Given the description of an element on the screen output the (x, y) to click on. 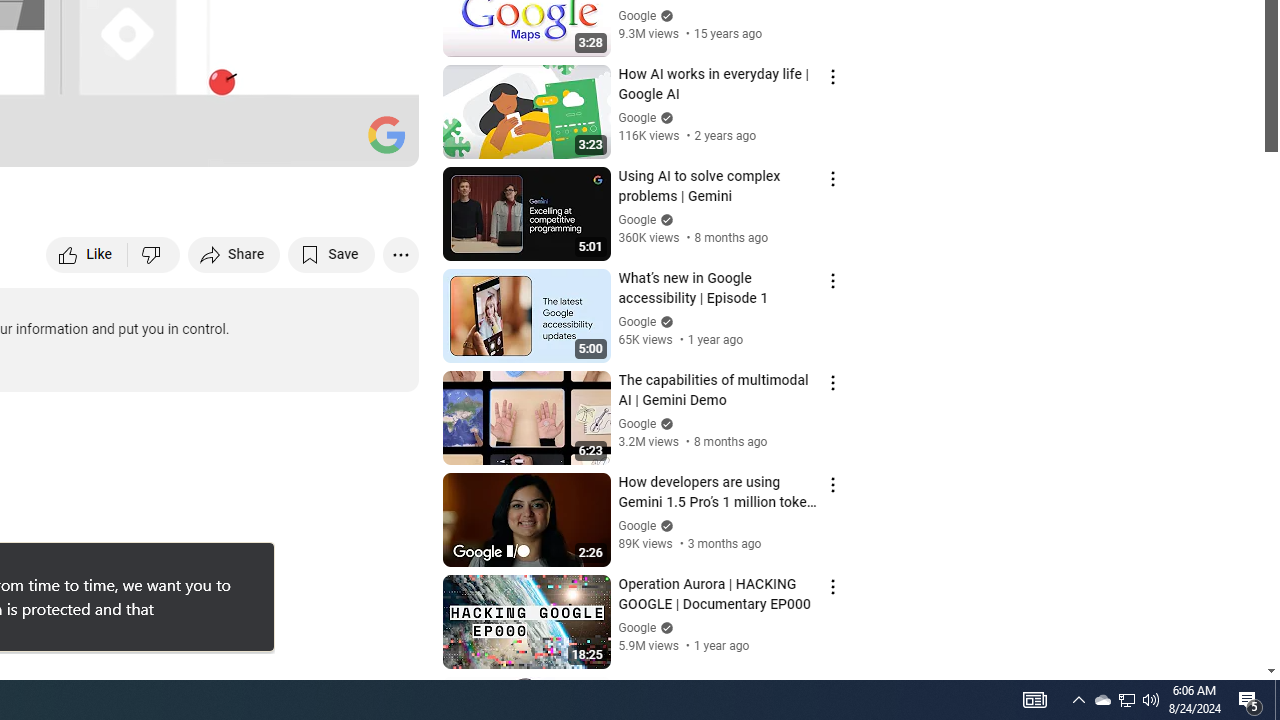
More actions (399, 254)
Theater mode (t) (333, 142)
Verified (664, 627)
Like (87, 254)
Save to playlist (331, 254)
Miniplayer (i) (286, 142)
Subtitles/closed captions unavailable (190, 142)
Channel watermark (386, 134)
Full screen (f) (382, 142)
Channel watermark (386, 134)
